Given the description of an element on the screen output the (x, y) to click on. 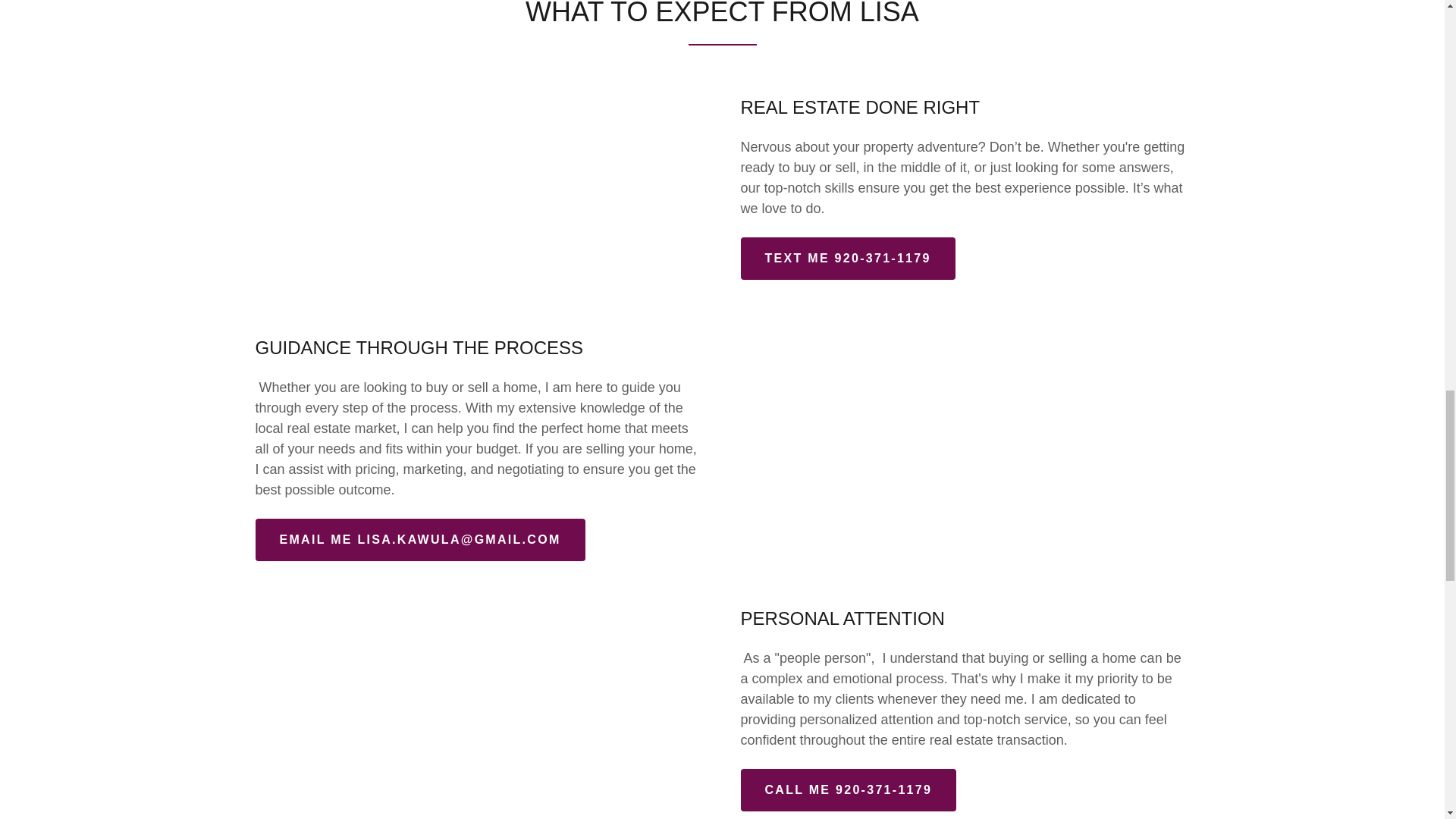
TEXT ME 920-371-1179 (847, 258)
CALL ME 920-371-1179 (847, 790)
